Given the description of an element on the screen output the (x, y) to click on. 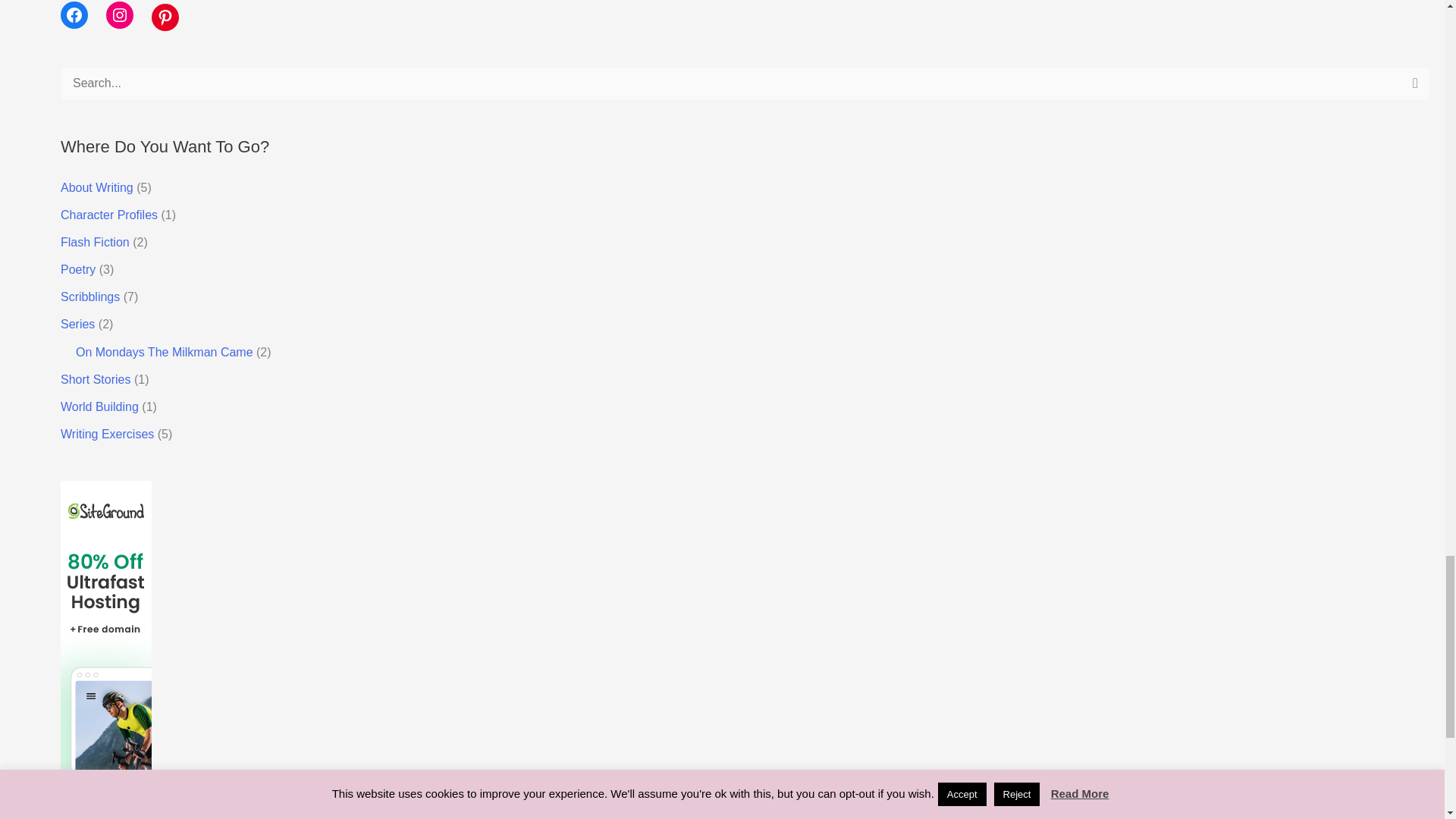
Pinterest (165, 17)
Facebook (74, 14)
About Writing (97, 187)
Instagram (119, 14)
